Given the description of an element on the screen output the (x, y) to click on. 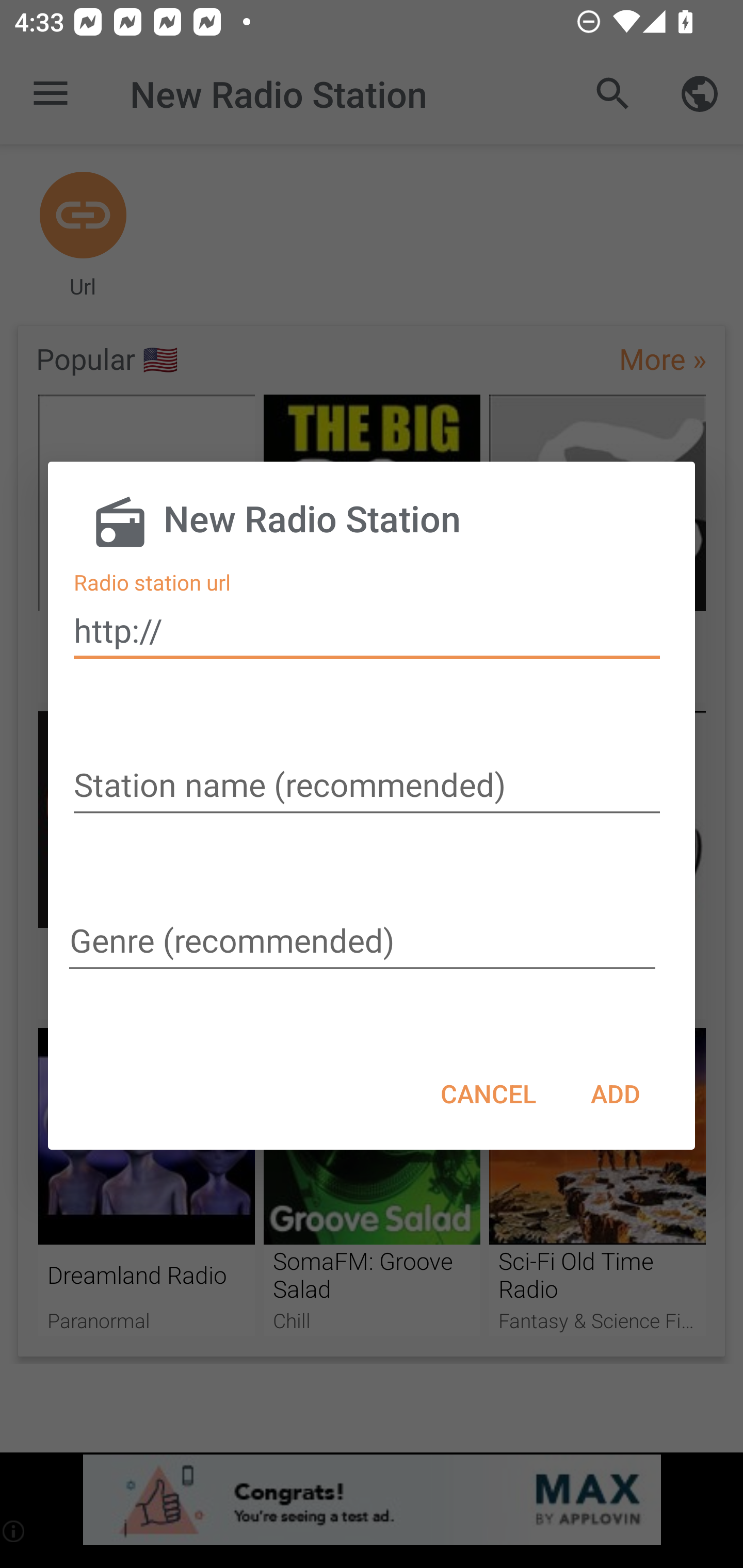
http:// (366, 630)
Station name (recommended) (366, 786)
Genre (recommended) (364, 942)
CANCEL (488, 1093)
ADD (615, 1093)
